Given the description of an element on the screen output the (x, y) to click on. 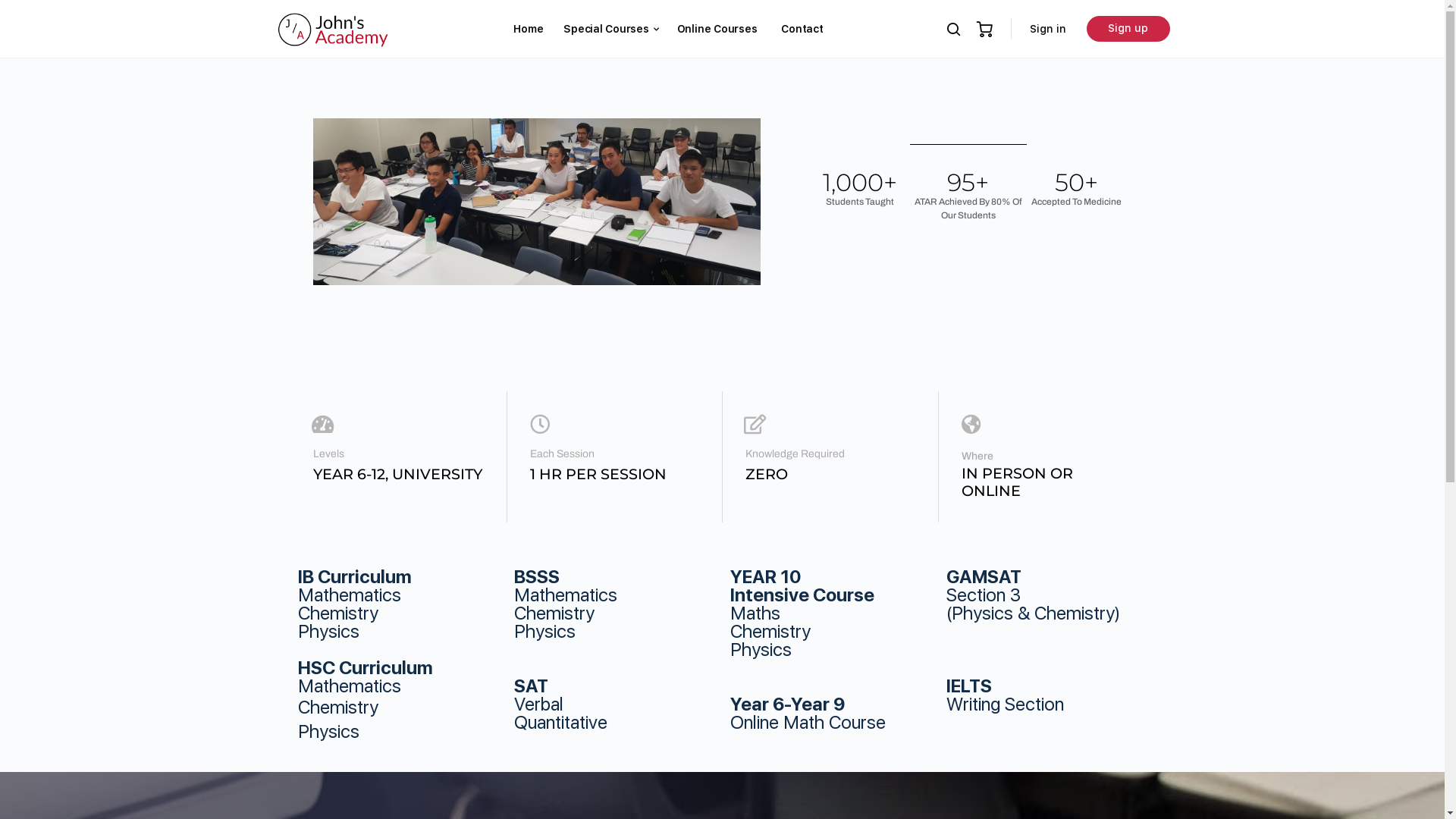
Sign up Element type: text (1127, 28)
Special Courses Element type: text (605, 28)
Contact Element type: text (801, 28)
Online Courses Element type: text (717, 28)
Home Element type: text (527, 28)
Search Element type: text (277, 28)
Sign in Element type: text (1047, 28)
